Given the description of an element on the screen output the (x, y) to click on. 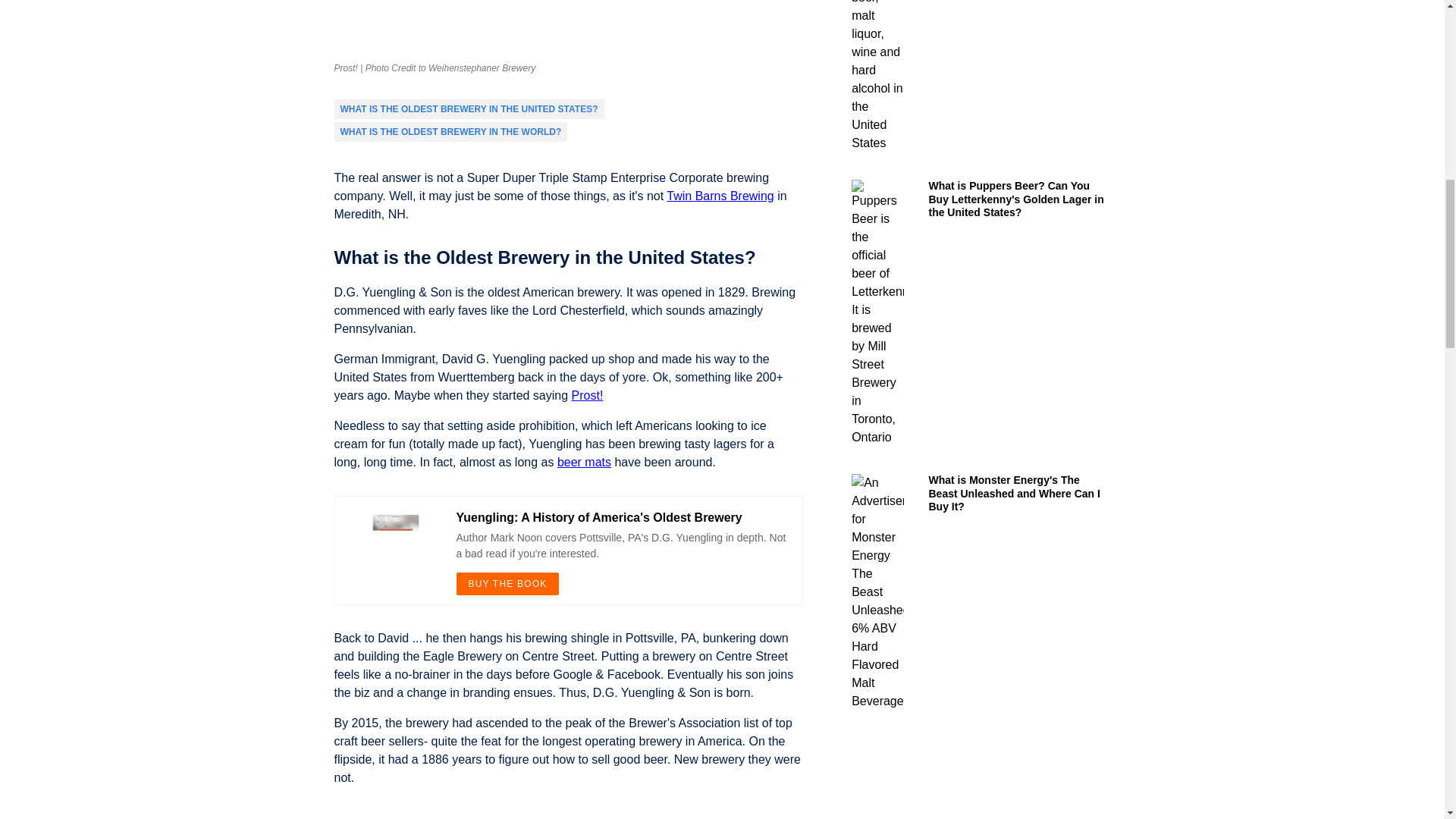
YouTube video player (545, 809)
Twin Barns Brewing (719, 195)
WHAT IS THE OLDEST BREWERY IN THE WORLD? (449, 131)
Prost! (588, 395)
beer mats (584, 461)
WHAT IS THE OLDEST BREWERY IN THE UNITED STATES? (467, 109)
